Given the description of an element on the screen output the (x, y) to click on. 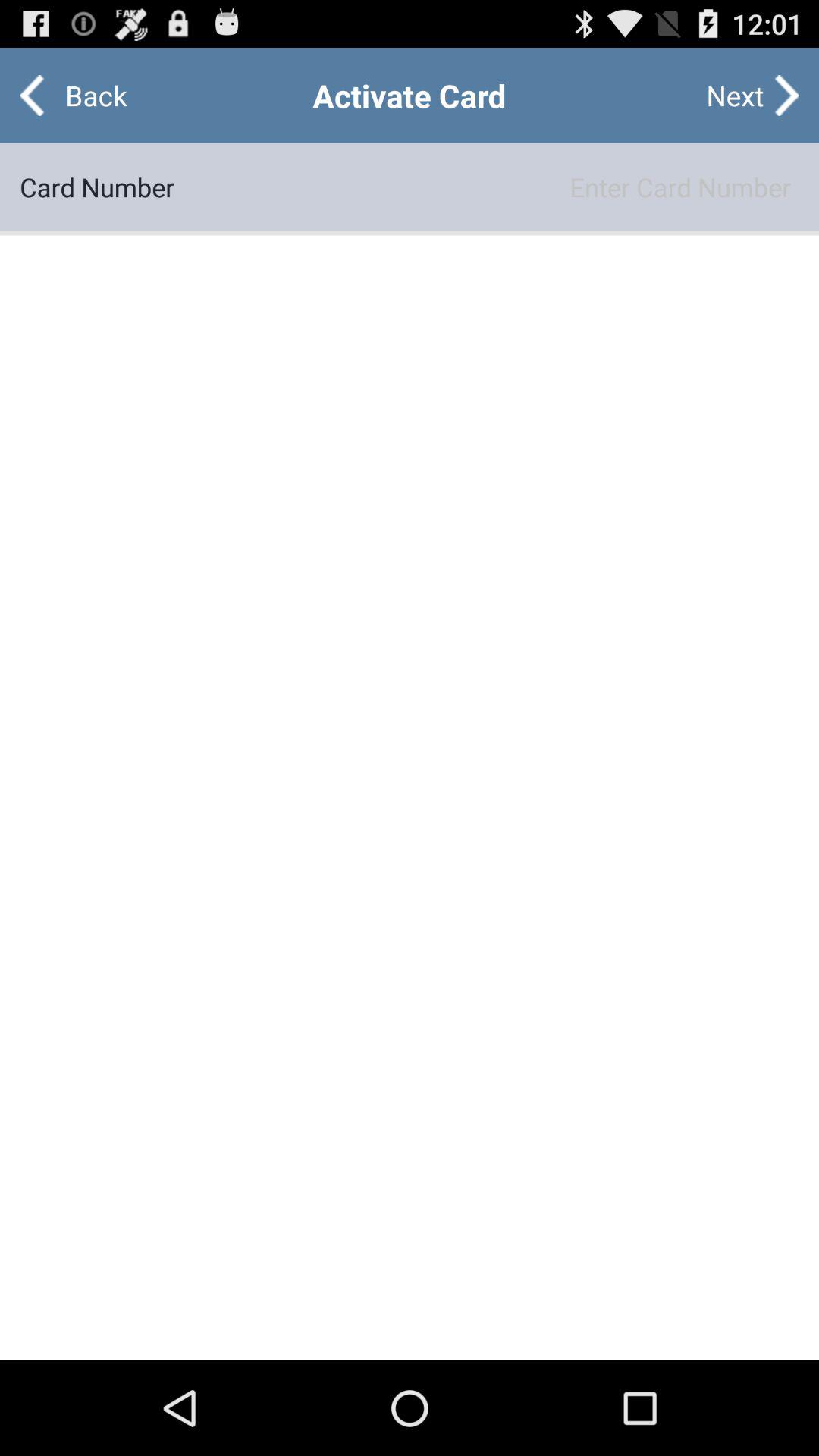
click the app above card number item (83, 95)
